Given the description of an element on the screen output the (x, y) to click on. 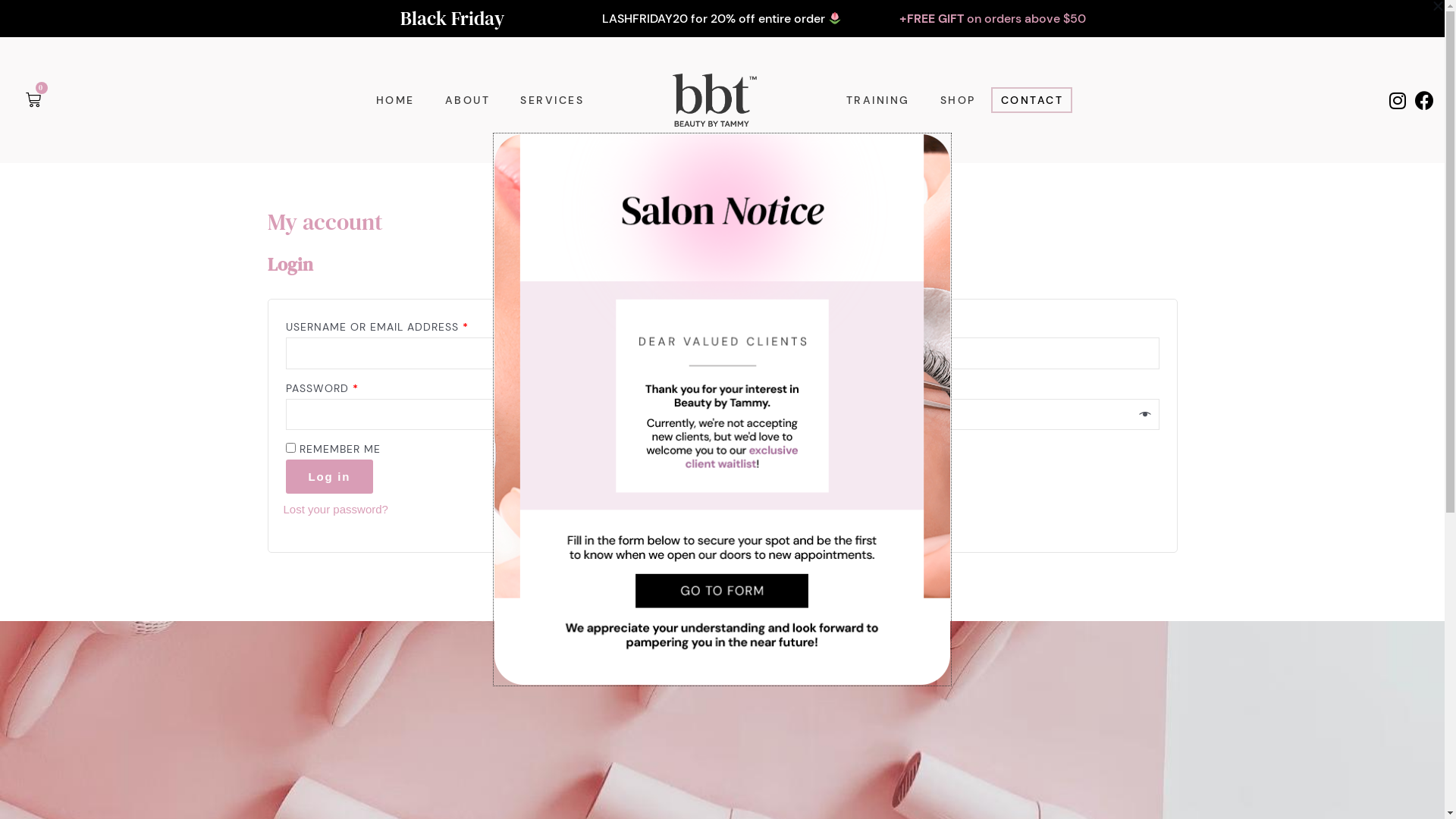
CONTACT Element type: text (1032, 99)
SERVICES Element type: text (552, 99)
SHOP Element type: text (958, 99)
0 Element type: text (33, 100)
HOME Element type: text (394, 99)
Lost your password? Element type: text (335, 508)
TRAINING Element type: text (878, 99)
ABOUT Element type: text (467, 99)
Log in Element type: text (329, 476)
